Given the description of an element on the screen output the (x, y) to click on. 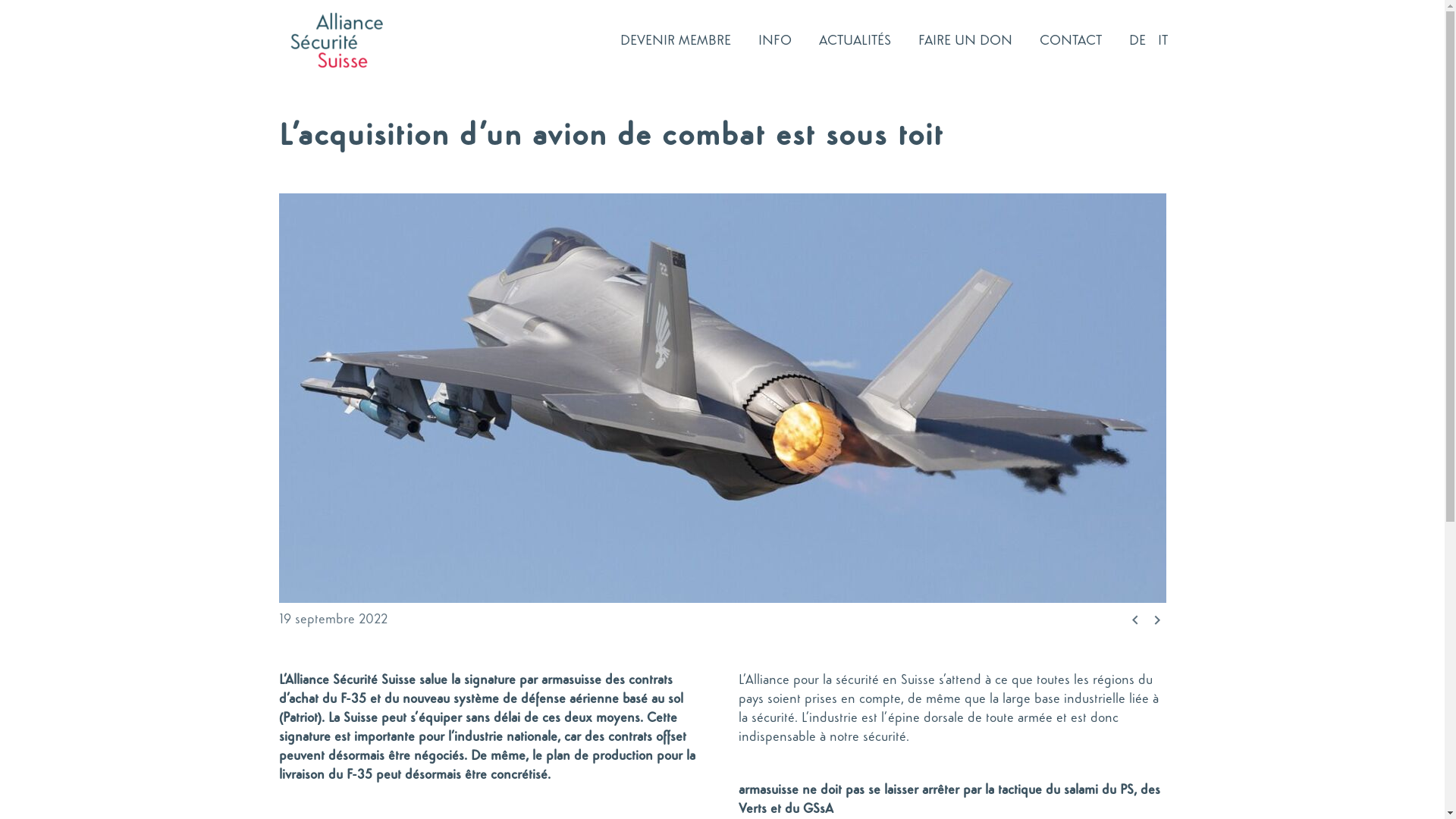
DEVENIR MEMBRE Element type: text (674, 39)
DE Element type: text (1137, 39)
FAIRE UN DON Element type: text (964, 39)
CONTACT Element type: text (1070, 39)
INFO Element type: text (774, 39)
IT Element type: text (1162, 39)
